Given the description of an element on the screen output the (x, y) to click on. 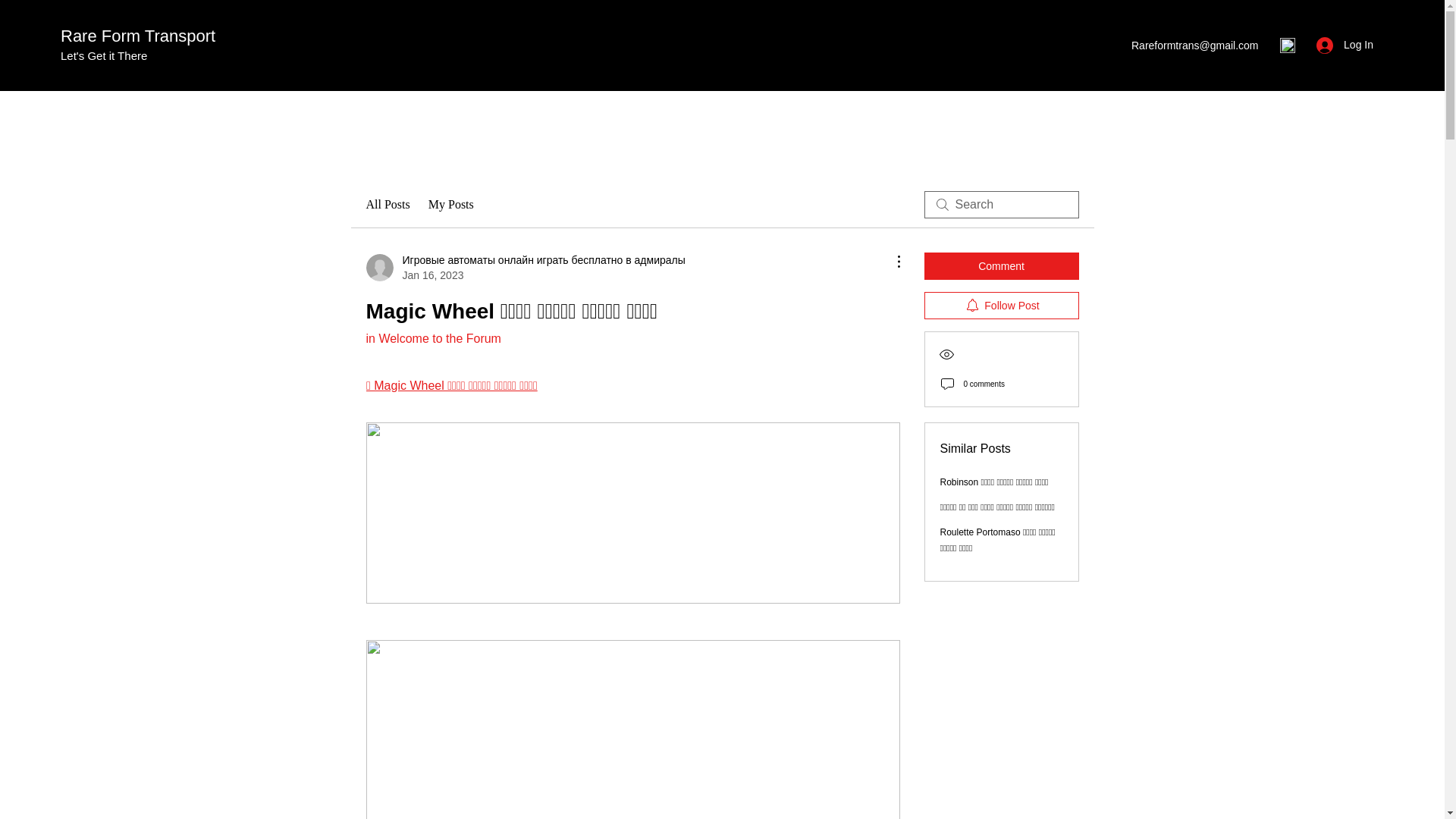
Rare Form Transport (138, 35)
in Welcome to the Forum (432, 338)
Comment (1000, 266)
My Posts (451, 204)
Log In (1345, 44)
Follow Post (1000, 305)
All Posts (387, 204)
